Given the description of an element on the screen output the (x, y) to click on. 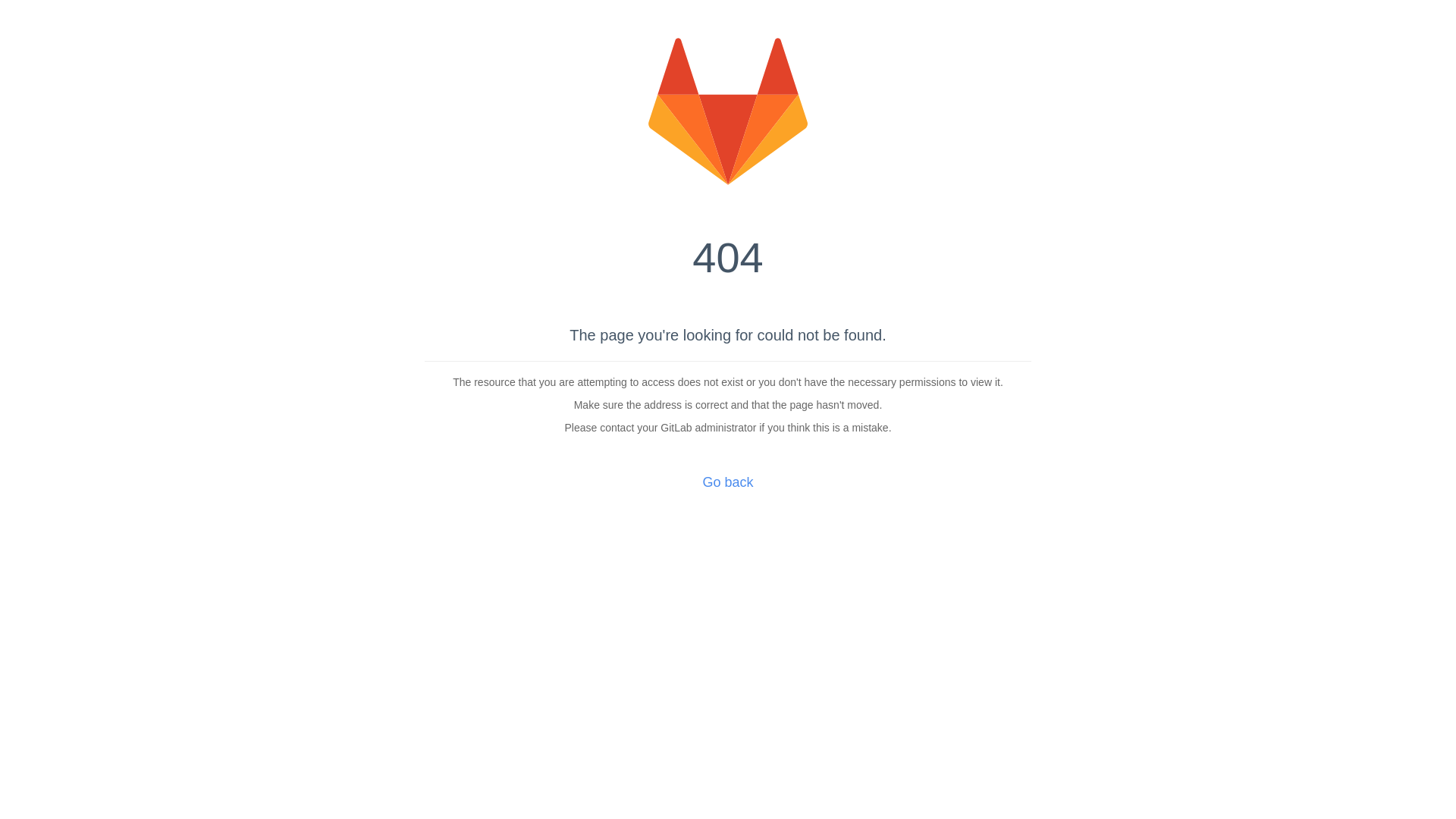
Go back Element type: text (727, 481)
